Given the description of an element on the screen output the (x, y) to click on. 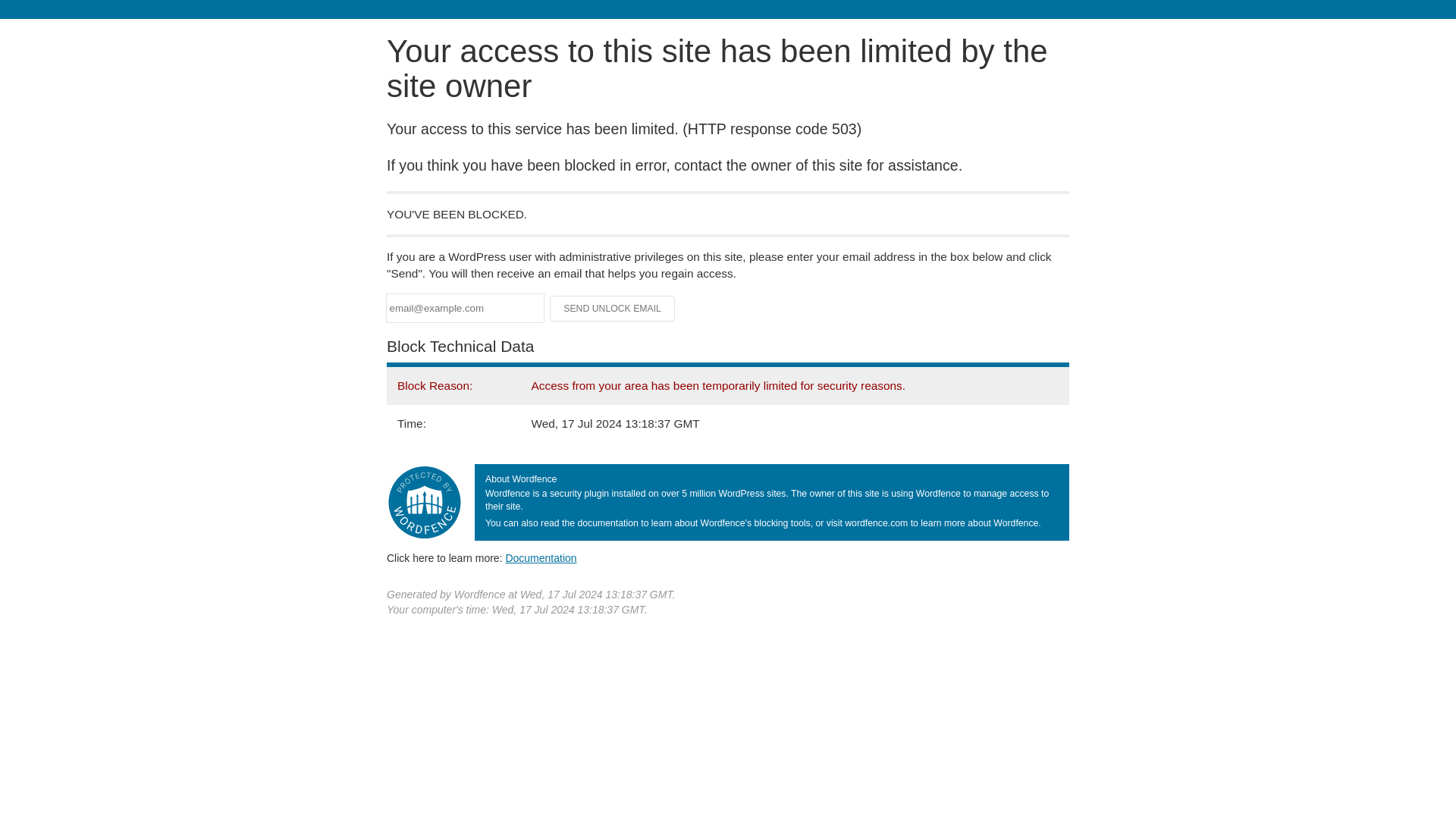
Documentation (540, 558)
Send Unlock Email (612, 308)
Send Unlock Email (612, 308)
